Given the description of an element on the screen output the (x, y) to click on. 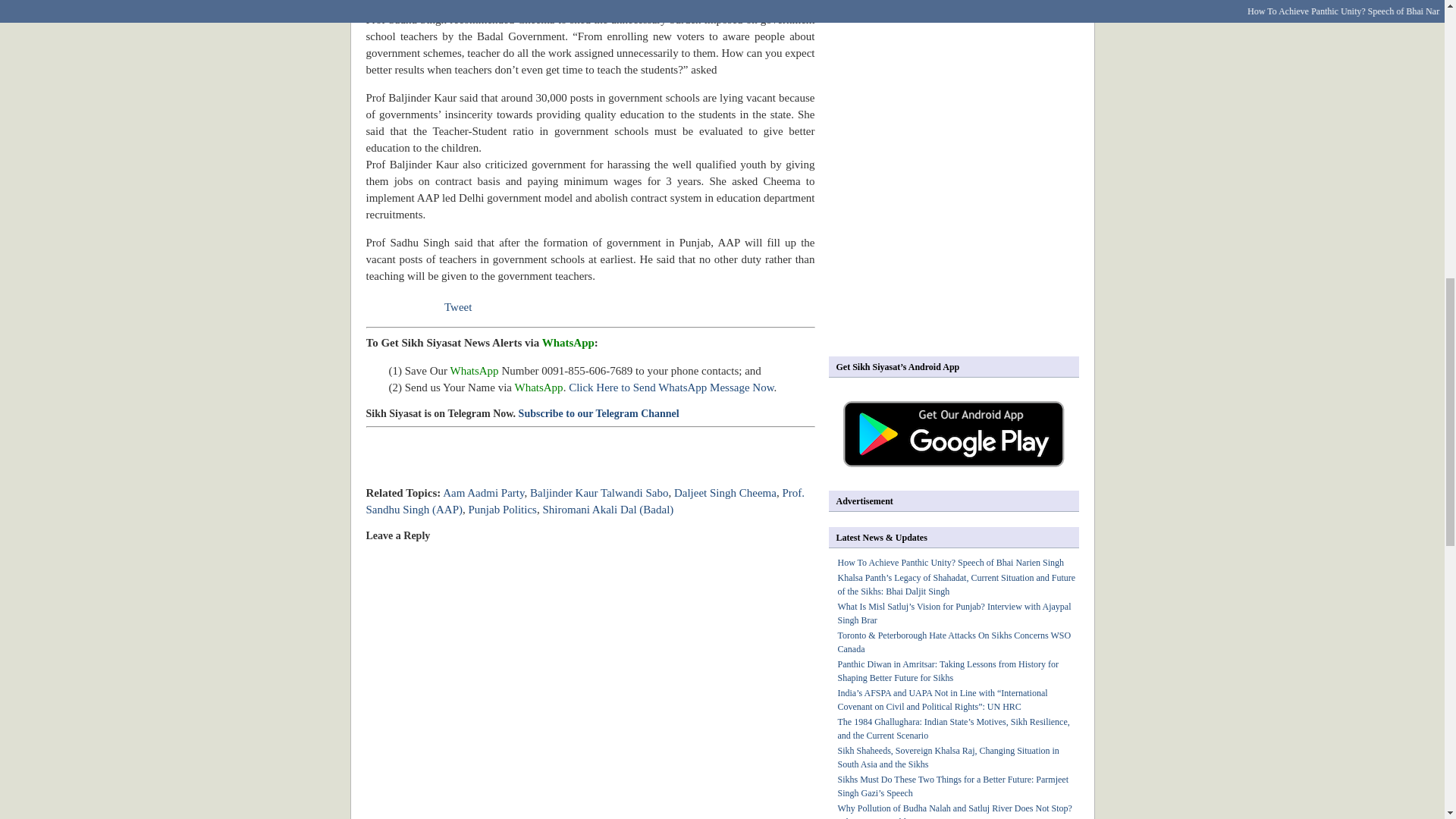
Advertisement (542, 467)
Advertisement (955, 233)
